Given the description of an element on the screen output the (x, y) to click on. 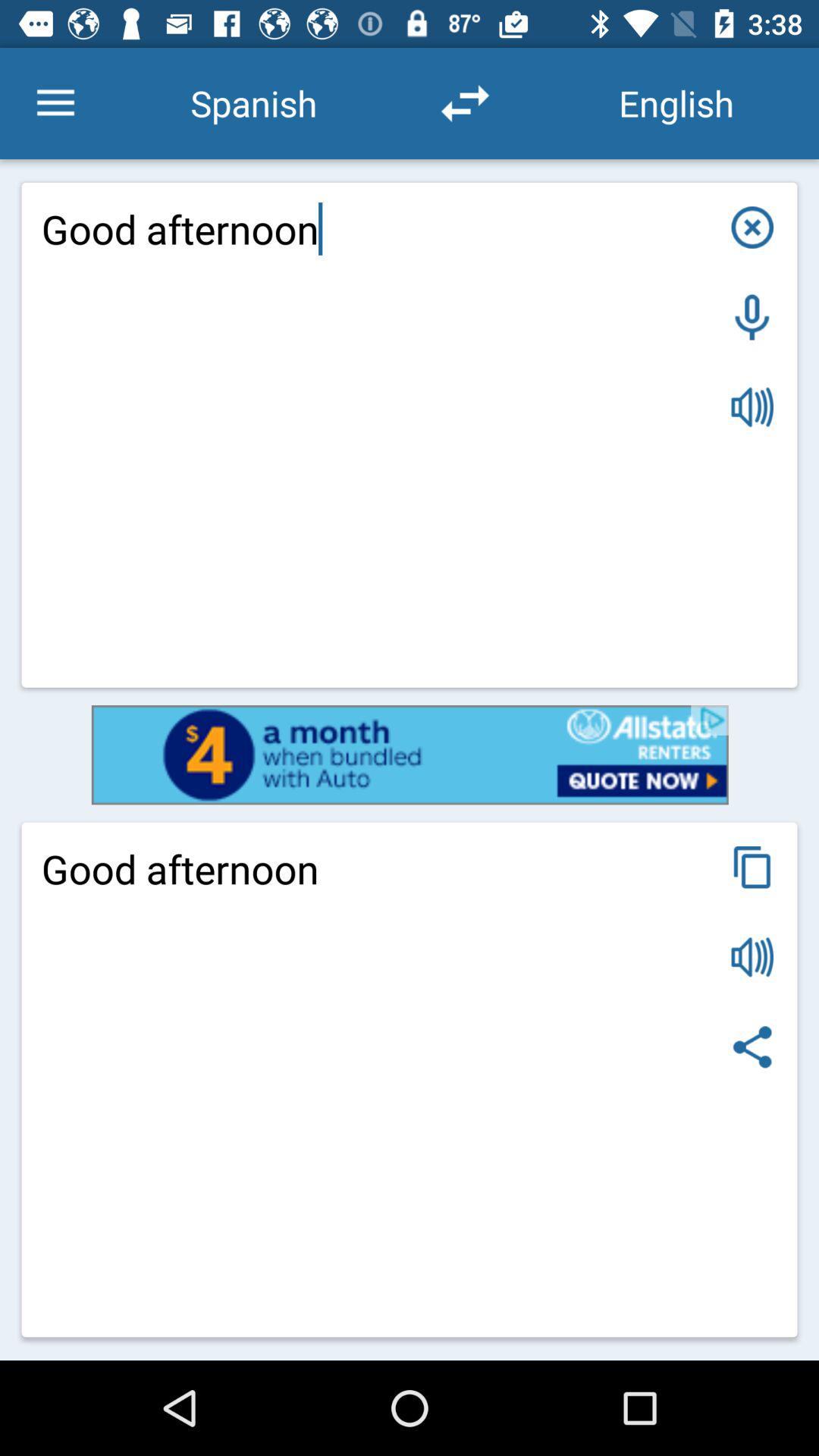
allstate renters insurance (409, 754)
